Given the description of an element on the screen output the (x, y) to click on. 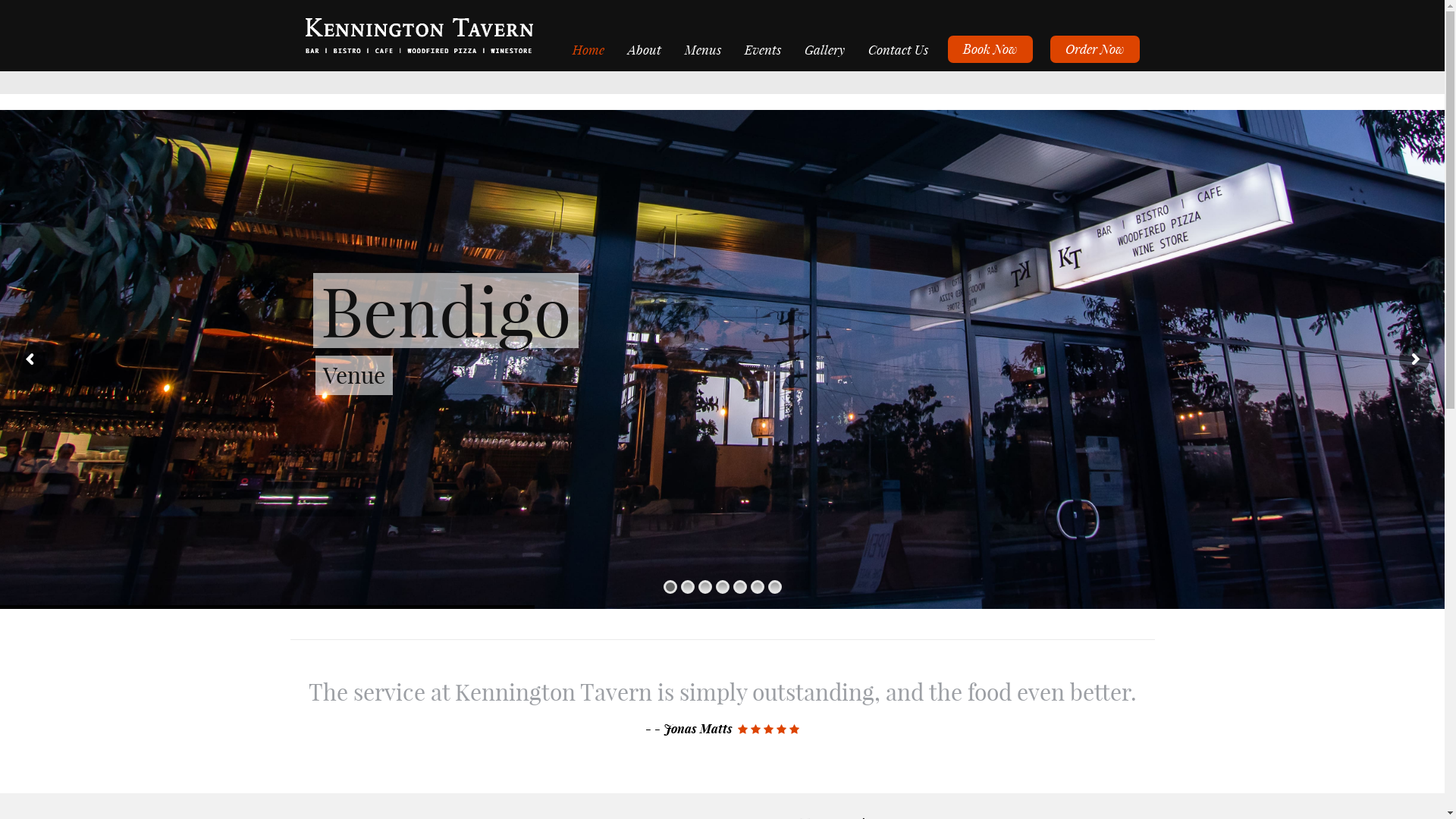
Order Now Element type: text (1094, 48)
About Element type: text (644, 49)
Gallery Element type: text (823, 49)
Home Element type: text (588, 49)
Events Element type: text (762, 49)
Contact Us Element type: text (897, 49)
Book Now Element type: text (989, 48)
Menus Element type: text (702, 49)
